Given the description of an element on the screen output the (x, y) to click on. 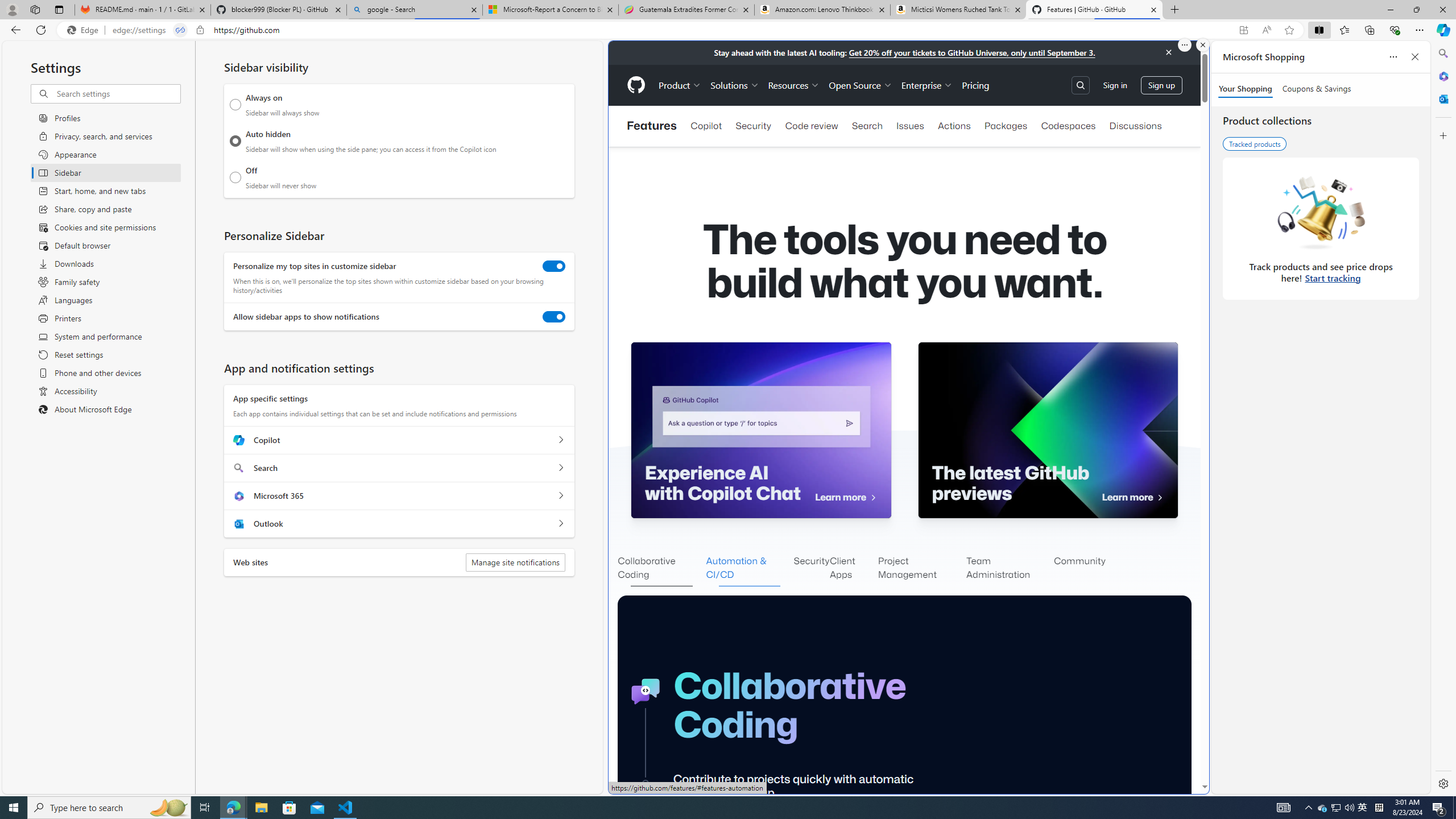
Actions (954, 125)
Edge (84, 29)
GitHub Collaboration Icon (646, 691)
Code review (811, 125)
Experience AI with Copilot Chat Learn more  (761, 429)
Off Sidebar will never show (235, 177)
Enterprise (927, 84)
Manage site notifications (514, 562)
